Given the description of an element on the screen output the (x, y) to click on. 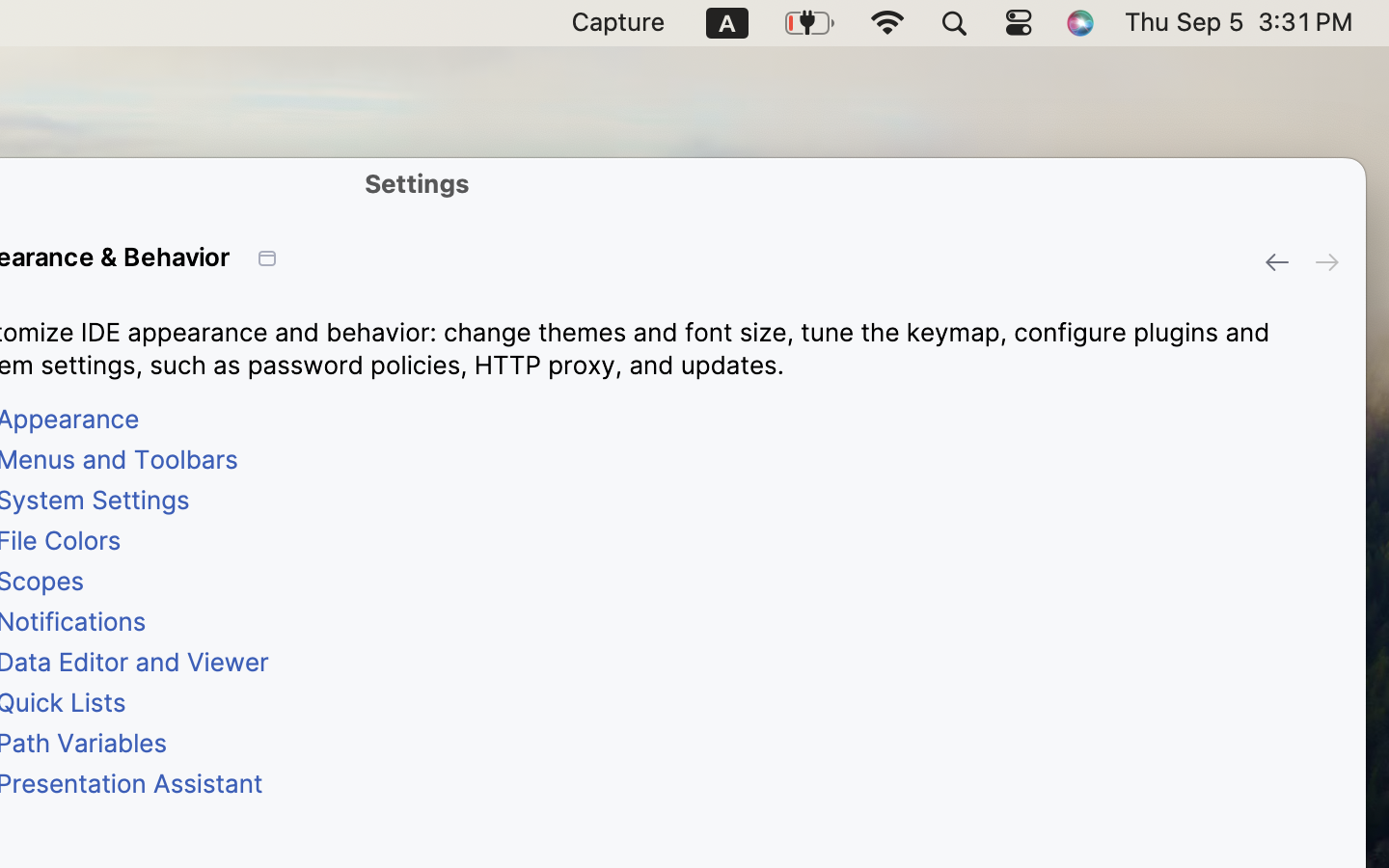
Settings Element type: AXStaticText (417, 182)
